Given the description of an element on the screen output the (x, y) to click on. 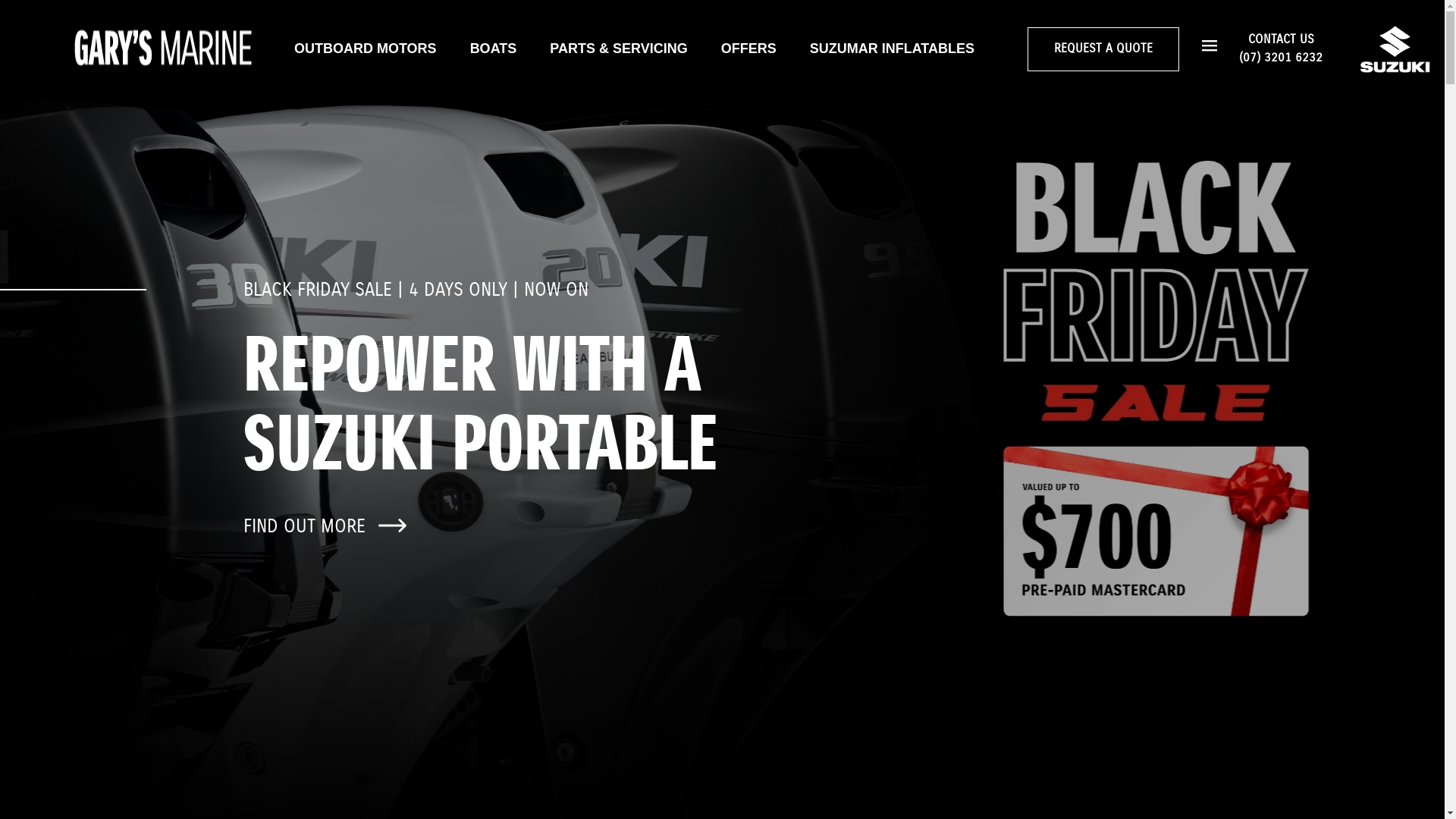
BOATS Element type: text (493, 48)
PARTS & SERVICING Element type: text (618, 48)
CONTACT US Element type: text (1281, 39)
FIND OUT MORE Element type: text (326, 526)
SUZUMAR INFLATABLES Element type: text (891, 48)
(07) 3201 6232 Element type: text (1280, 58)
OUTBOARD MOTORS Element type: text (365, 48)
Home page Element type: hover (162, 48)
REQUEST A QUOTE Element type: text (1103, 49)
OFFERS Element type: text (748, 48)
